Given the description of an element on the screen output the (x, y) to click on. 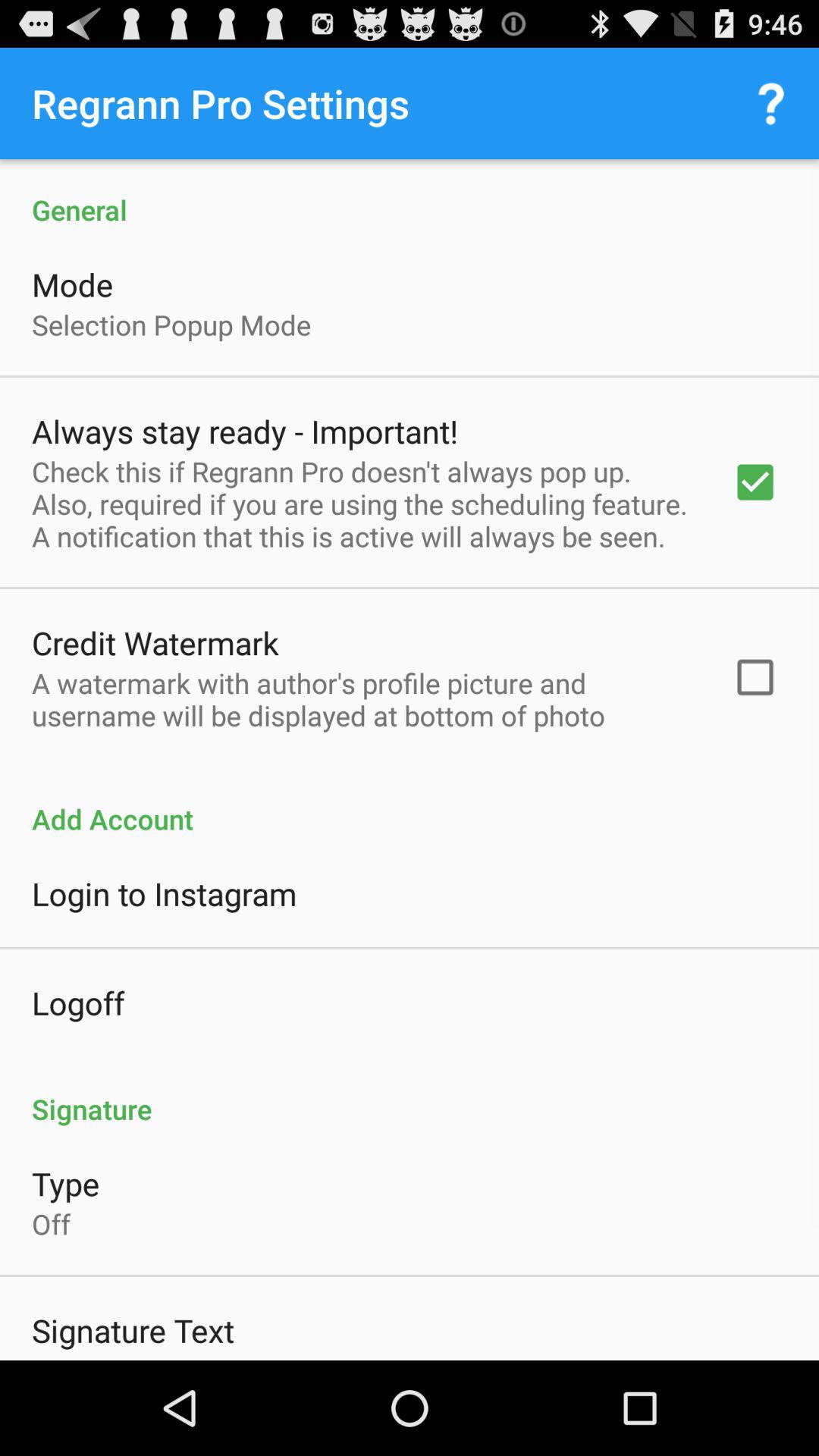
click the check this if (361, 503)
